Given the description of an element on the screen output the (x, y) to click on. 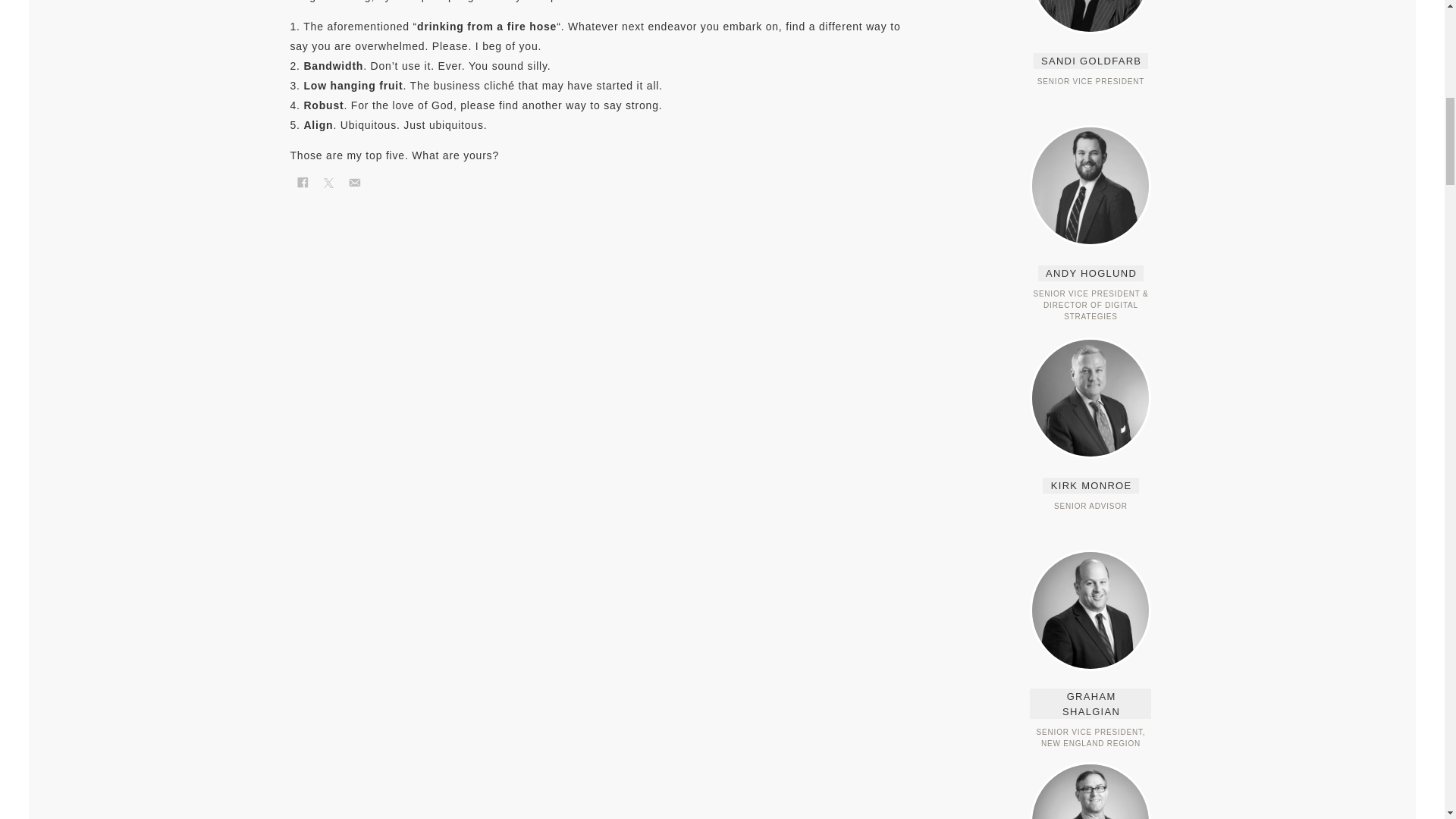
ANDY HOGLUND (1091, 273)
KIRK MONROE (1090, 485)
SANDI GOLDFARB (1090, 60)
GRAHAM SHALGIAN (1090, 703)
